Given the description of an element on the screen output the (x, y) to click on. 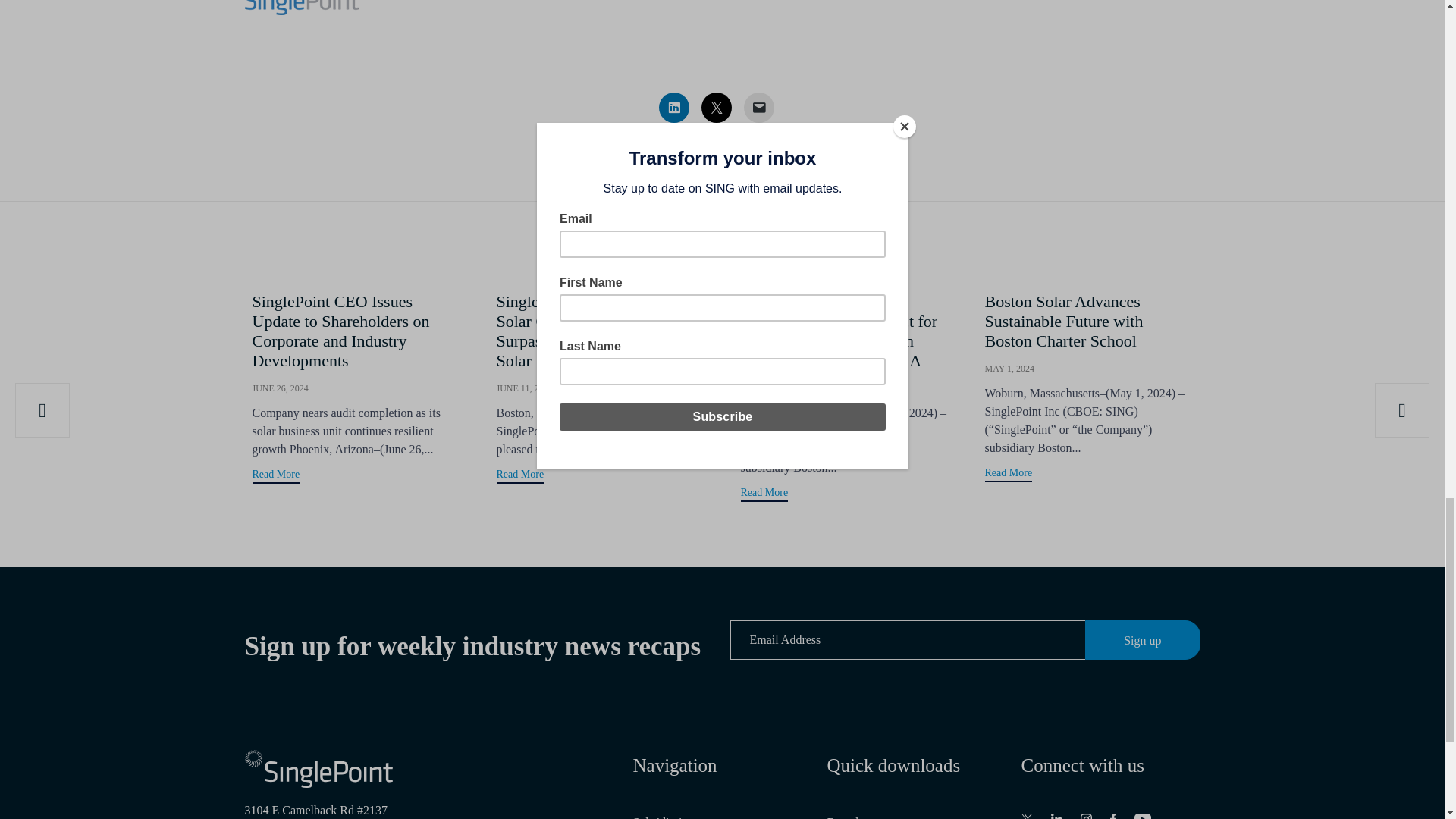
Click to email a link to a friend (757, 107)
Click to share on LinkedIn (673, 107)
Click to share on X (715, 107)
